Given the description of an element on the screen output the (x, y) to click on. 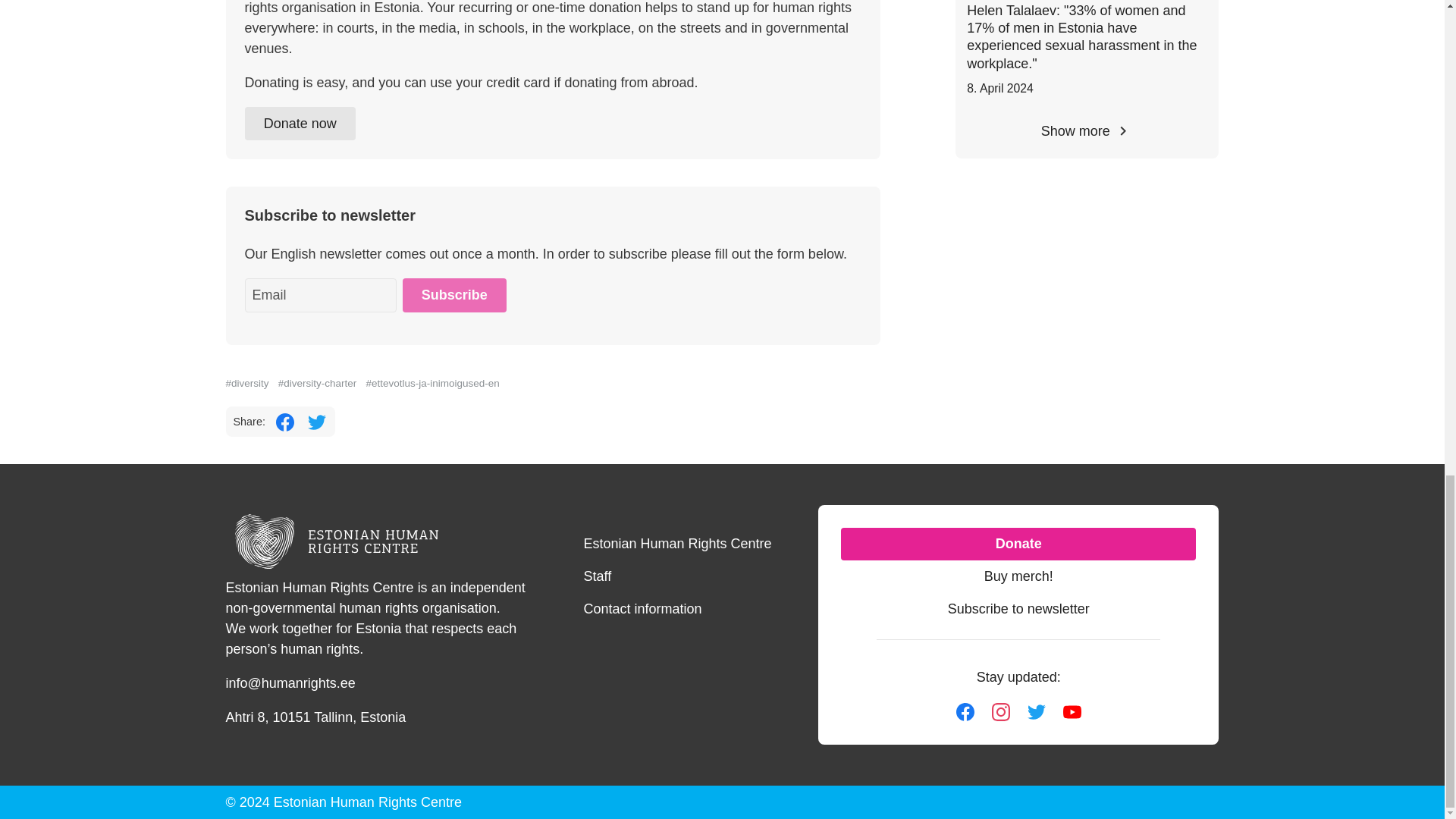
Donate now (299, 123)
Email (320, 295)
Subscribe (453, 295)
Subscribe (453, 295)
